Given the description of an element on the screen output the (x, y) to click on. 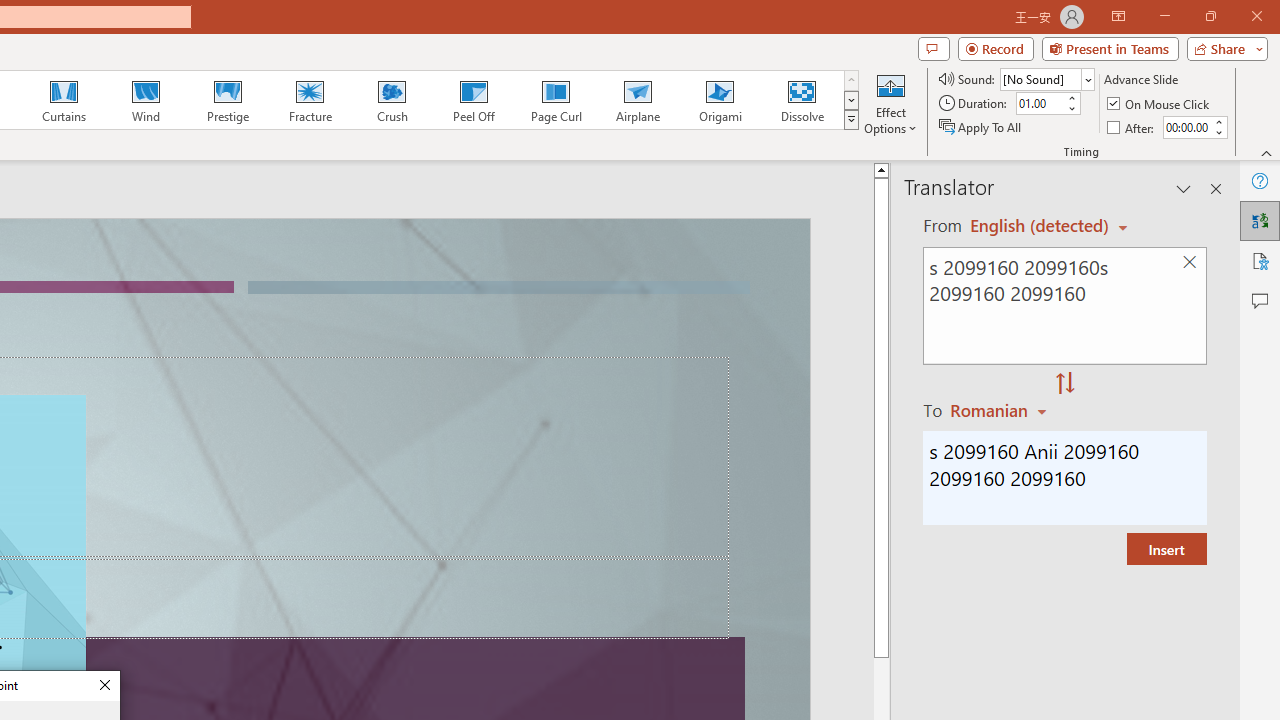
Origami (719, 100)
Transition Effects (850, 120)
On Mouse Click (1159, 103)
Wind (145, 100)
Clear text (1189, 262)
Duration (1039, 103)
Page Curl (555, 100)
After (1131, 126)
